Given the description of an element on the screen output the (x, y) to click on. 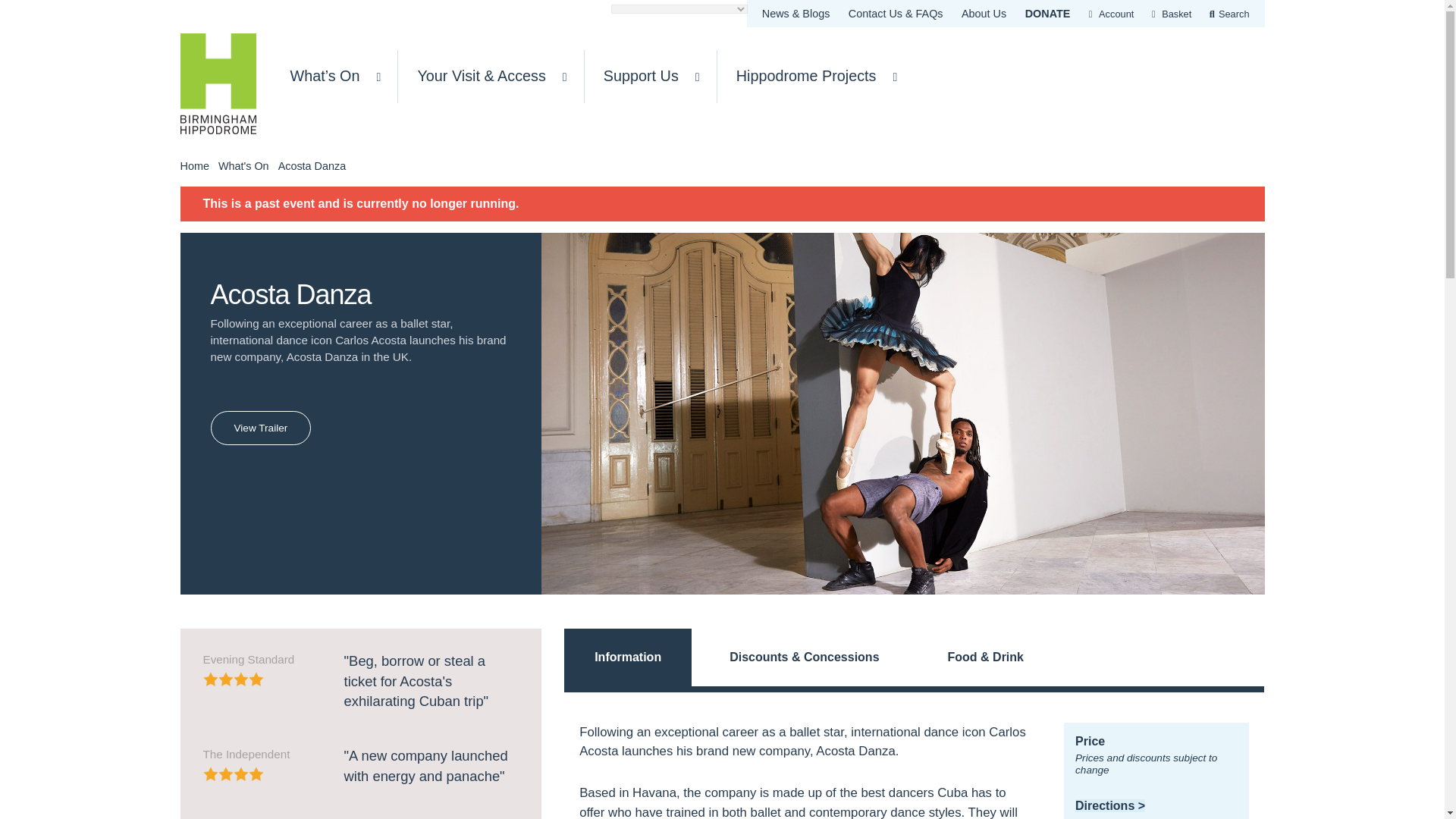
About Us (983, 13)
Basket (1173, 13)
Search (1229, 13)
DONATE (1047, 13)
Account (1111, 14)
